Given the description of an element on the screen output the (x, y) to click on. 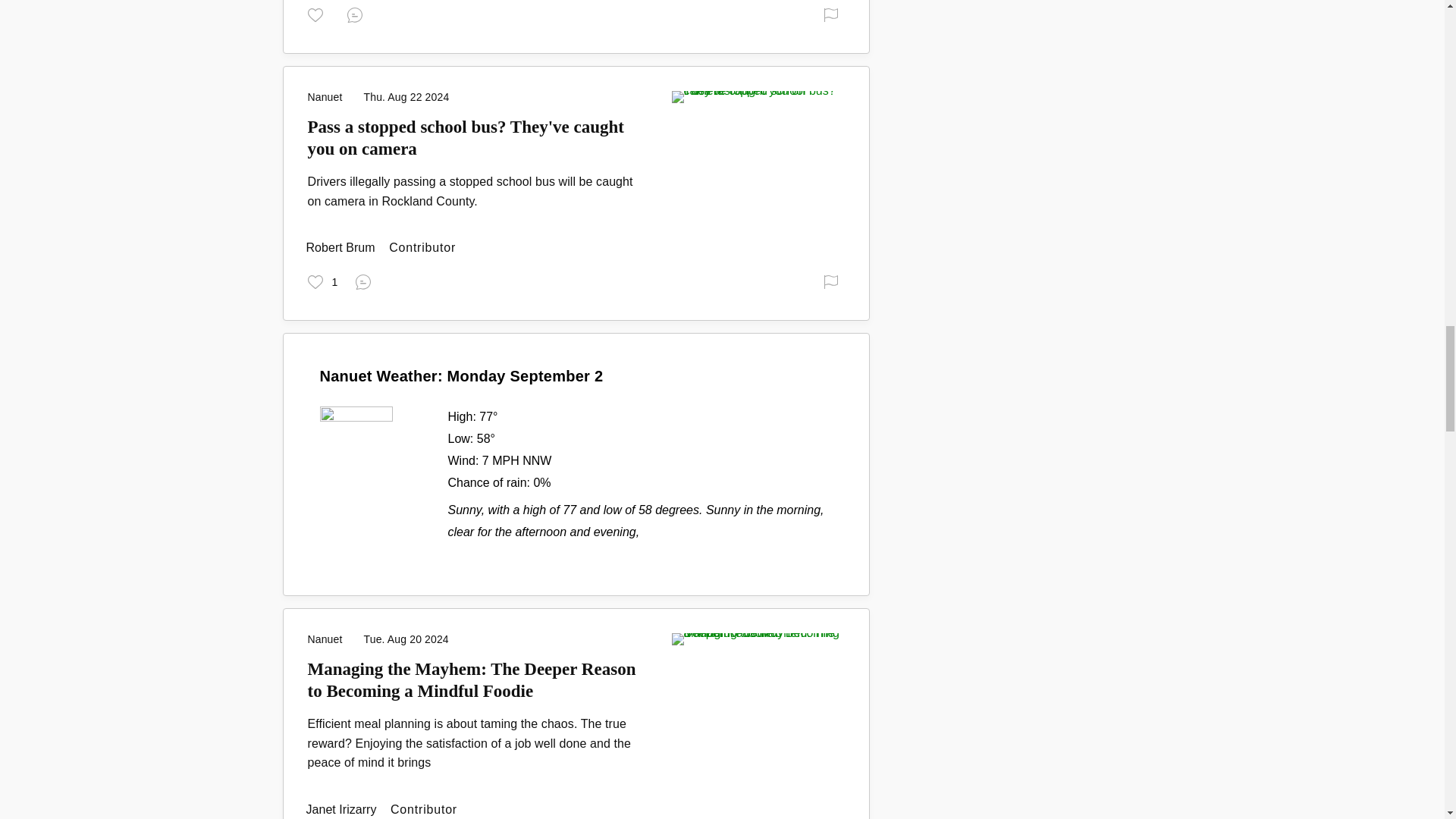
Reply (357, 13)
Thank (322, 281)
Reply (366, 281)
Contributor (341, 246)
Thank (318, 13)
Contributor (342, 809)
